Given the description of an element on the screen output the (x, y) to click on. 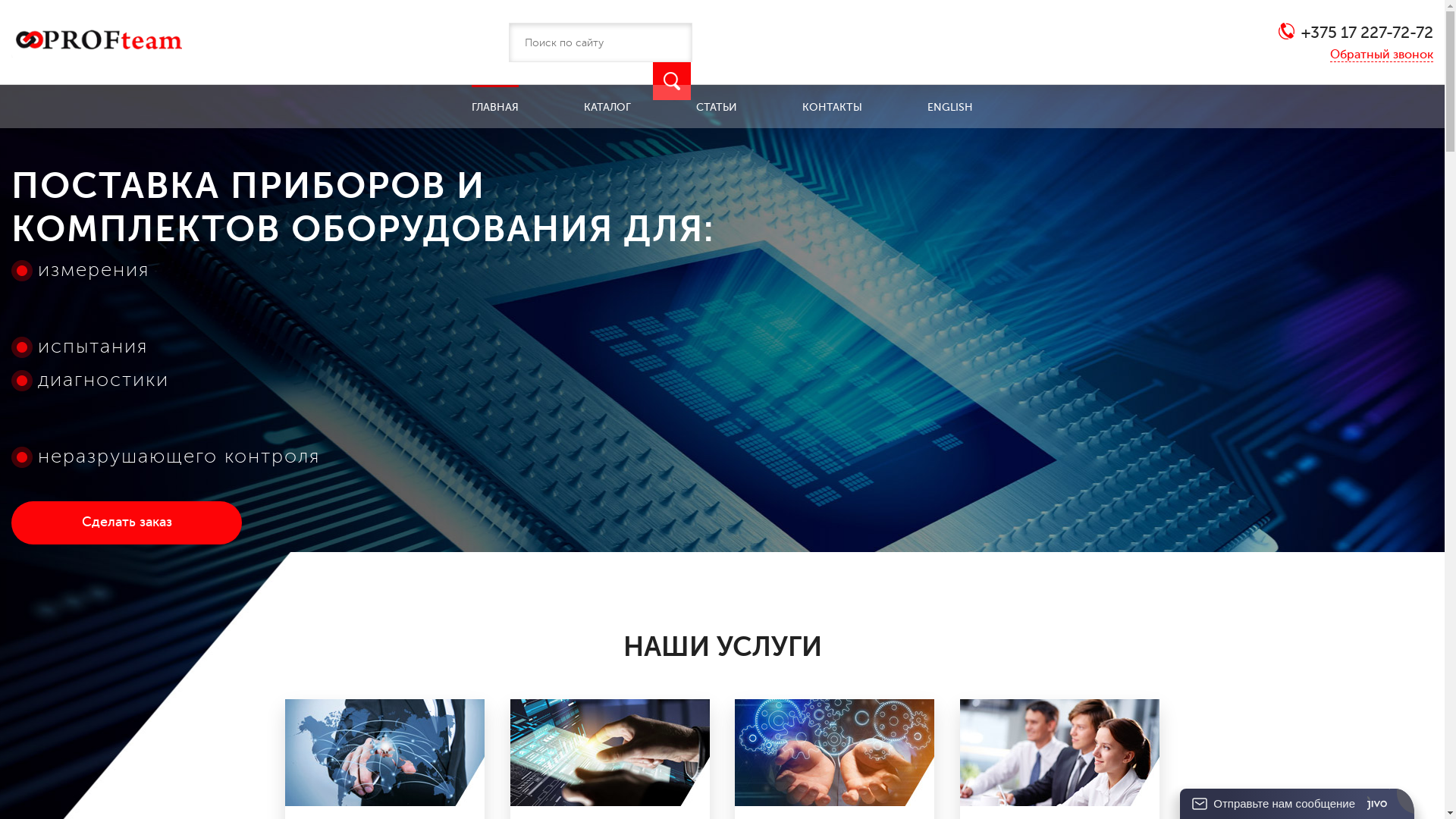
ENGLISH Element type: text (949, 103)
